Given the description of an element on the screen output the (x, y) to click on. 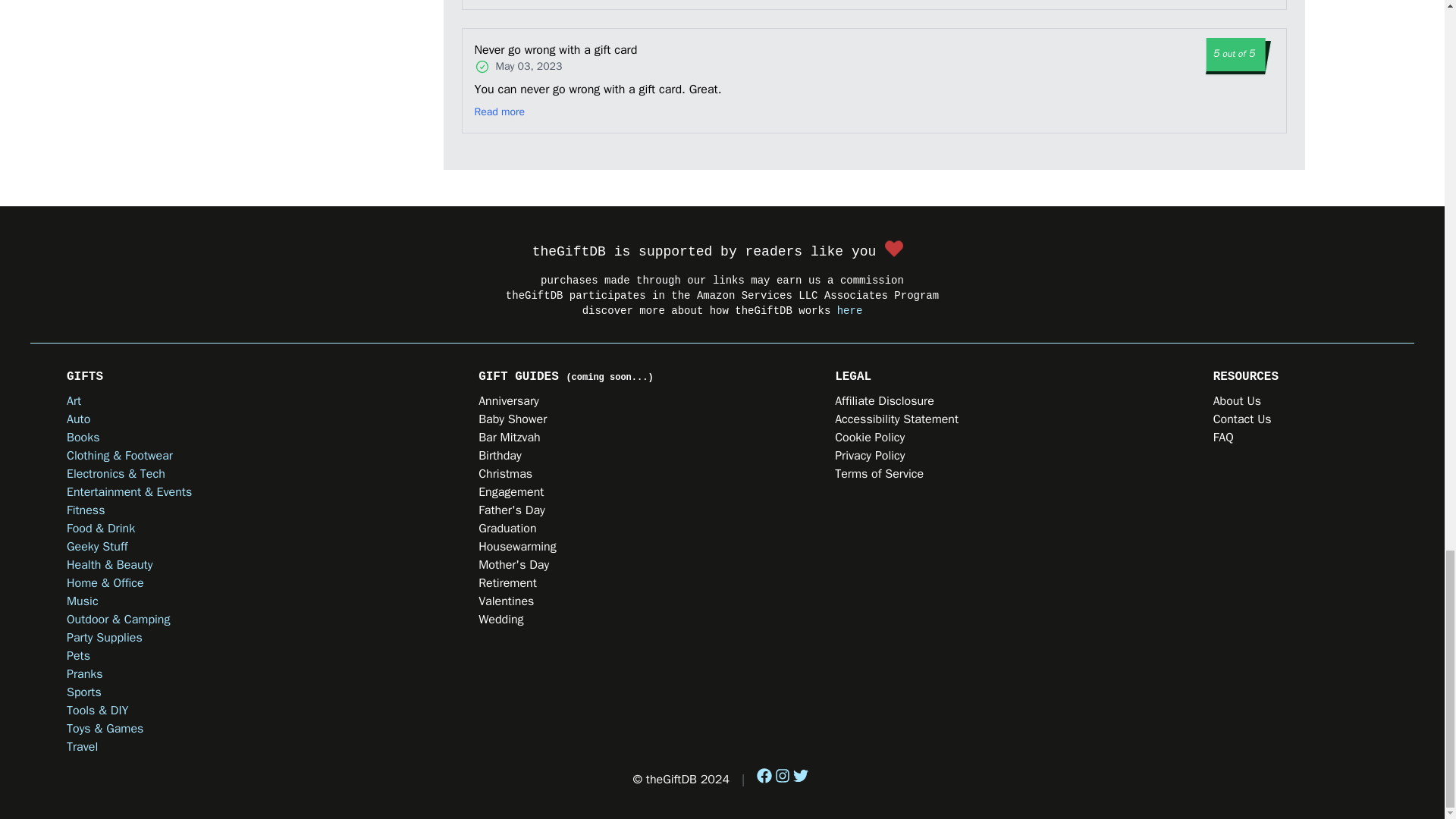
Never go wrong with a gift card (569, 49)
